Given the description of an element on the screen output the (x, y) to click on. 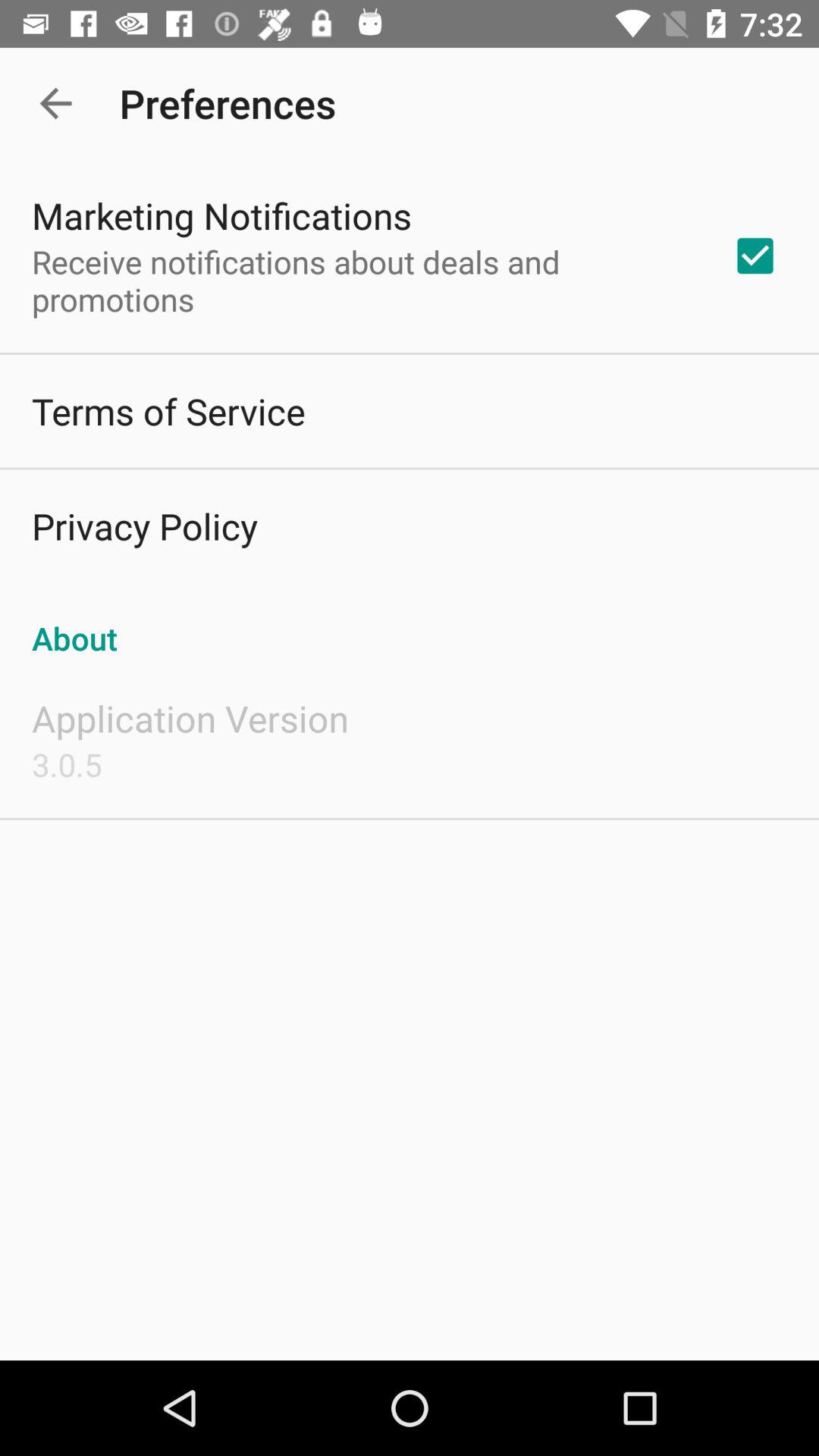
select the icon below the receive notifications about app (168, 410)
